Given the description of an element on the screen output the (x, y) to click on. 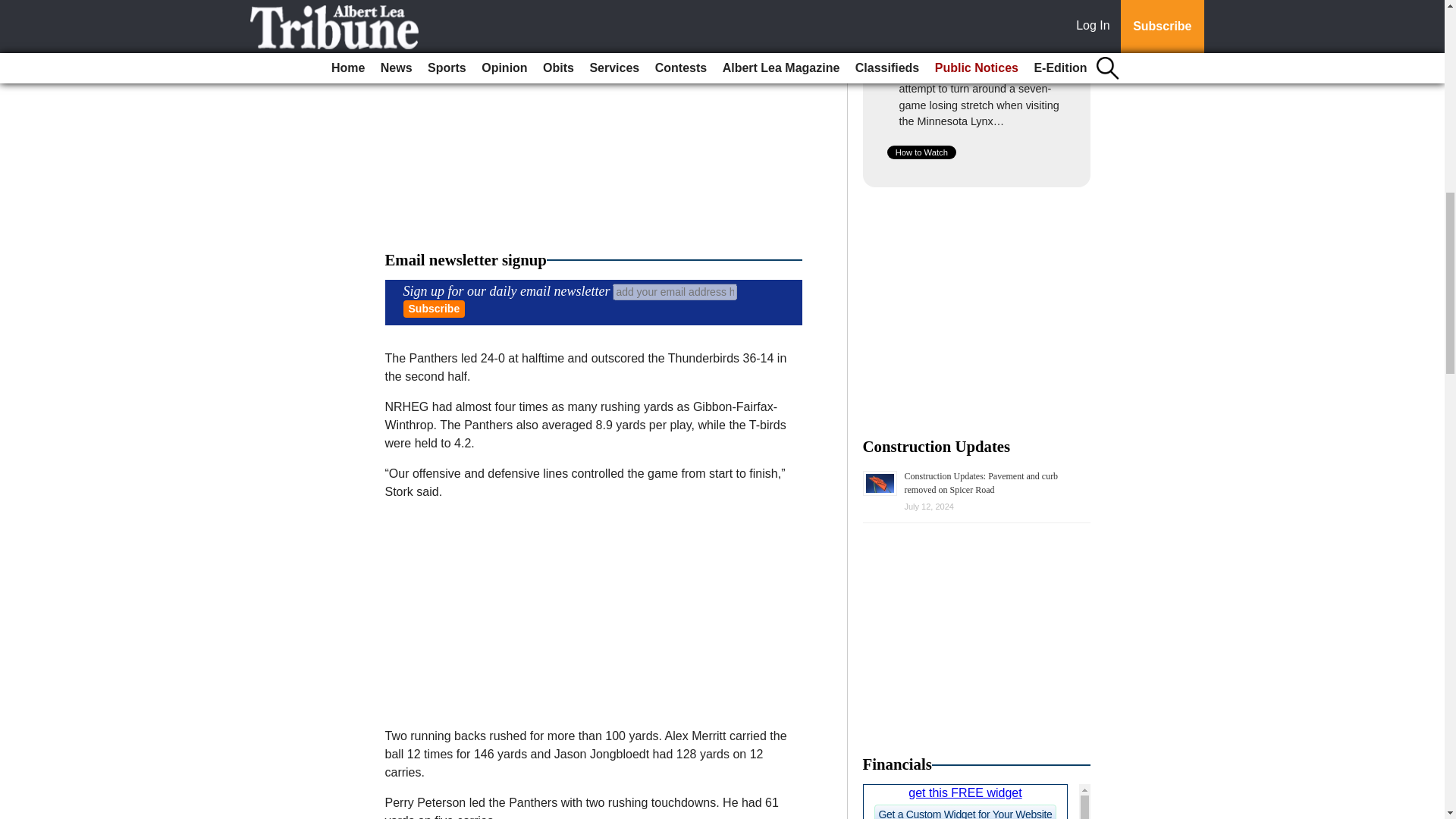
US Market Update (976, 801)
Subscribe (434, 308)
